Given the description of an element on the screen output the (x, y) to click on. 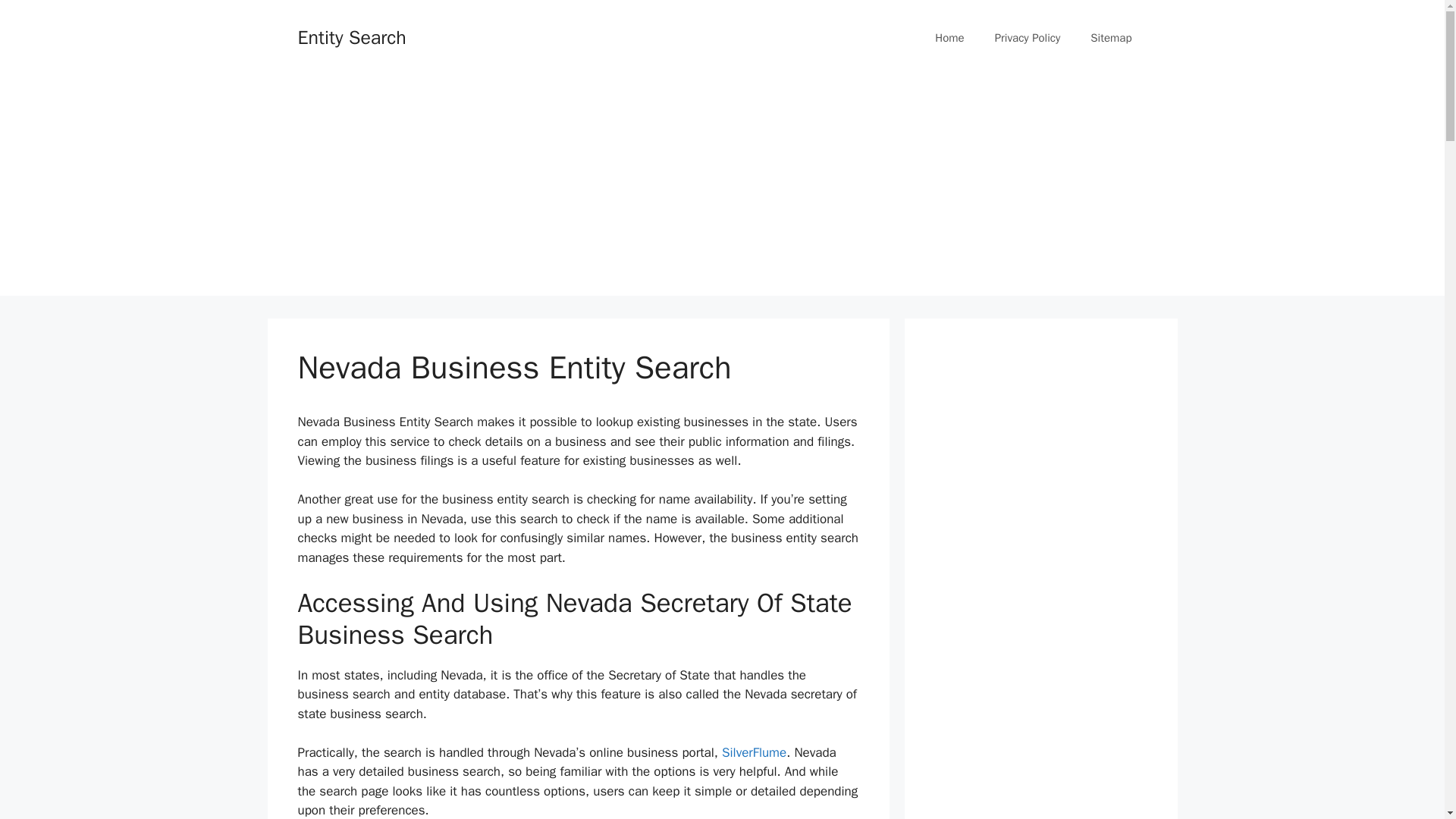
Privacy Policy (1027, 37)
Home (949, 37)
Entity Search (351, 37)
SilverFlume (754, 752)
Sitemap (1111, 37)
